Given the description of an element on the screen output the (x, y) to click on. 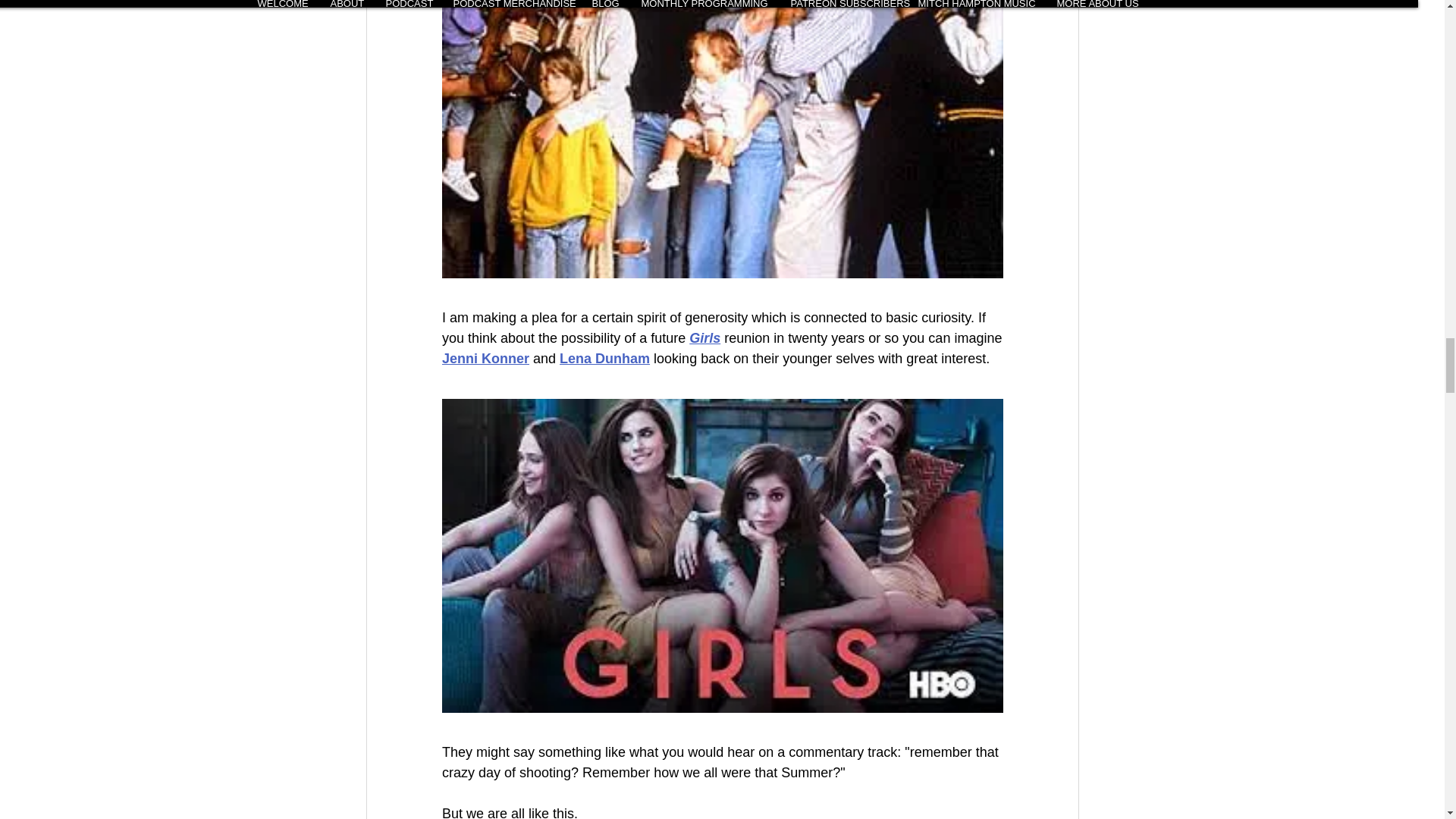
Girls (704, 337)
Lena Dunham (604, 358)
Jenni Konner (484, 358)
